Given the description of an element on the screen output the (x, y) to click on. 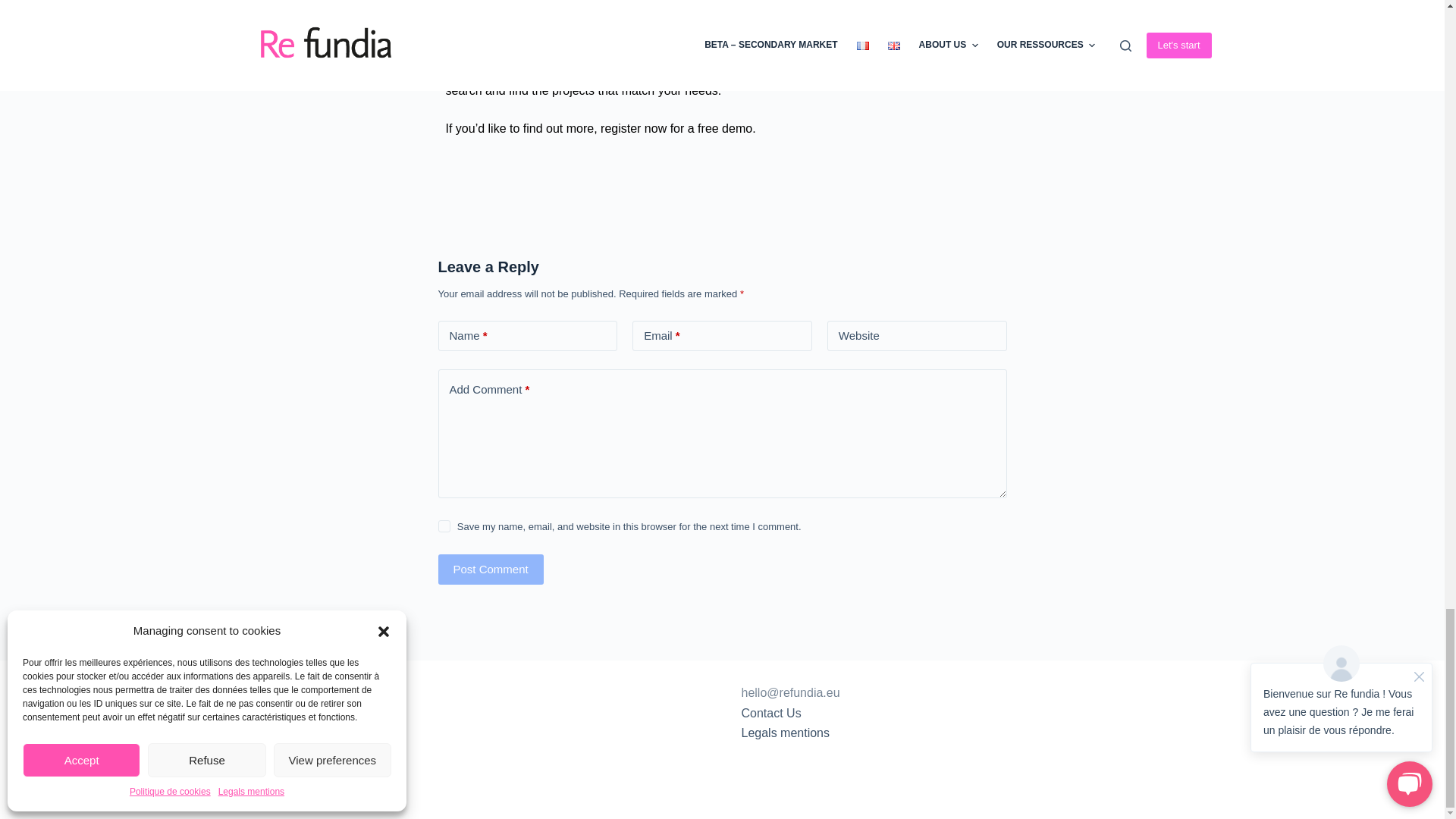
yes (443, 526)
